Given the description of an element on the screen output the (x, y) to click on. 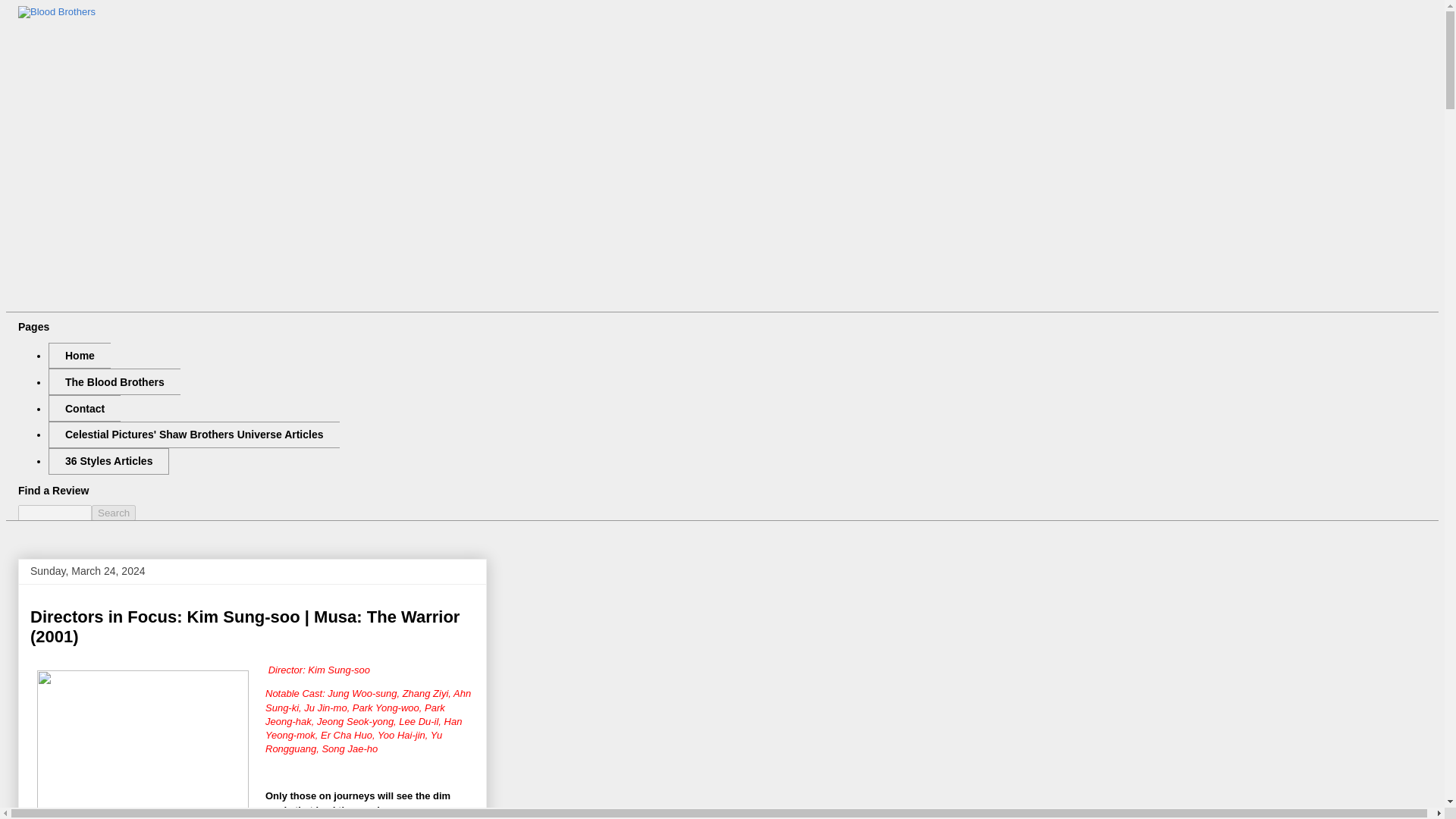
Search (113, 512)
Search (113, 512)
Contact (84, 407)
search (113, 512)
The Blood Brothers (114, 381)
Search (113, 512)
36 Styles Articles (108, 461)
Celestial Pictures' Shaw Brothers Universe Articles (193, 434)
search (54, 512)
Home (79, 356)
